Given the description of an element on the screen output the (x, y) to click on. 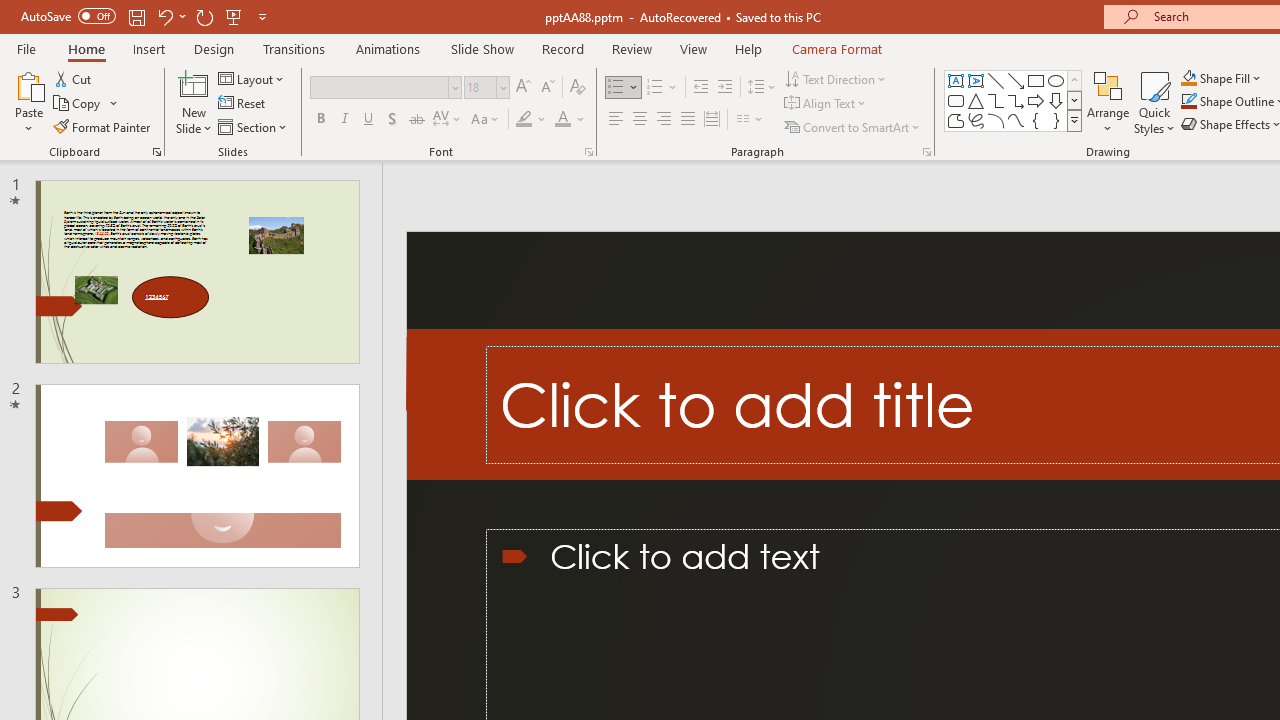
Italic (344, 119)
Shapes (1074, 120)
Curve (1016, 120)
Arrow: Down (1055, 100)
Font... (588, 151)
Align Left (616, 119)
Shape Fill (1221, 78)
Vertical Text Box (975, 80)
Bullets (623, 87)
New Slide (193, 102)
Arrange (1108, 102)
Bold (320, 119)
Copy (78, 103)
